Given the description of an element on the screen output the (x, y) to click on. 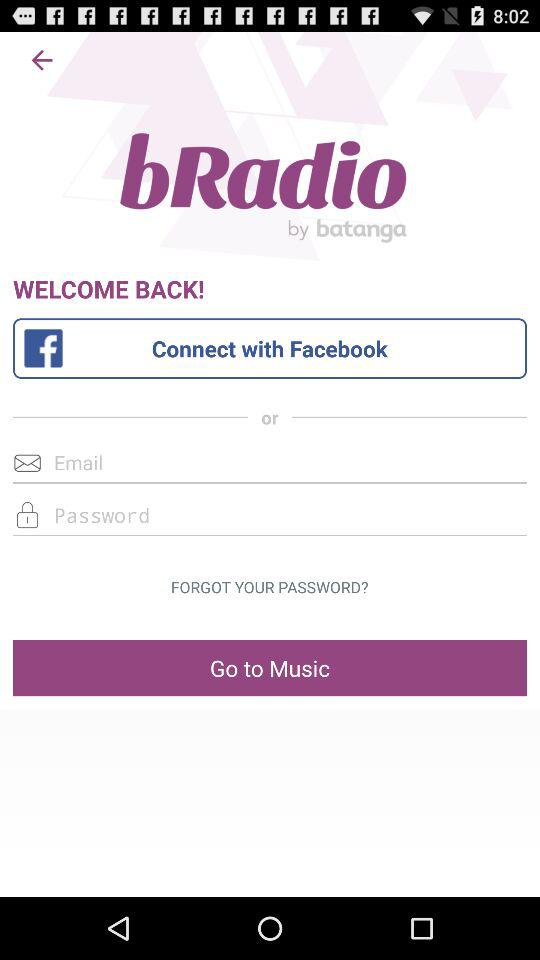
turn on the item above or (269, 348)
